Given the description of an element on the screen output the (x, y) to click on. 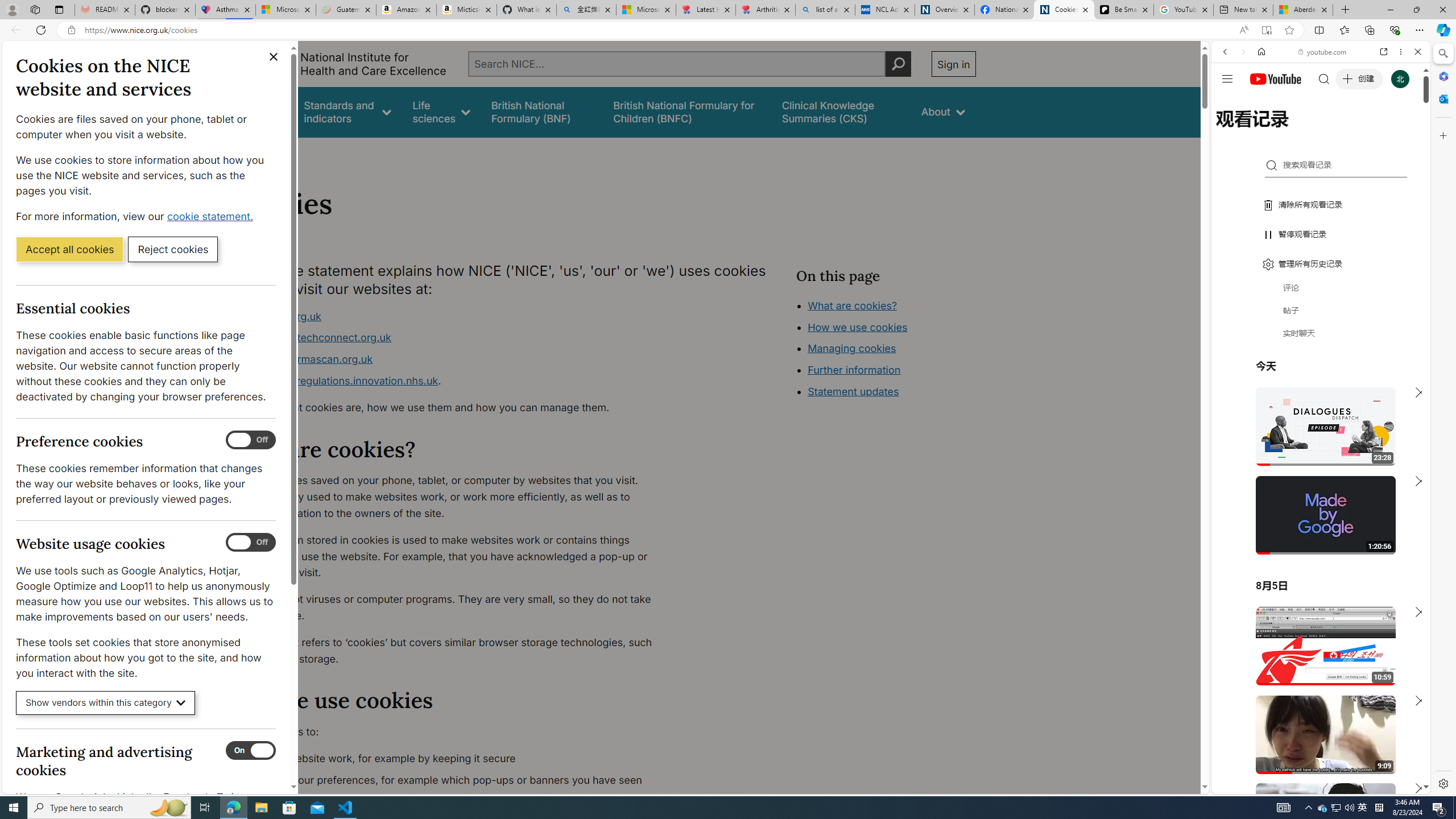
Music (1320, 309)
www.nice.org.uk (279, 315)
Music (1320, 309)
YouTube - YouTube (1315, 560)
Managing cookies (852, 348)
www.ukpharmascan.org.uk (452, 359)
www.healthtechconnect.org.uk (452, 338)
About (283, 152)
Side bar (1443, 418)
Trailer #2 [HD] (1320, 337)
